Given the description of an element on the screen output the (x, y) to click on. 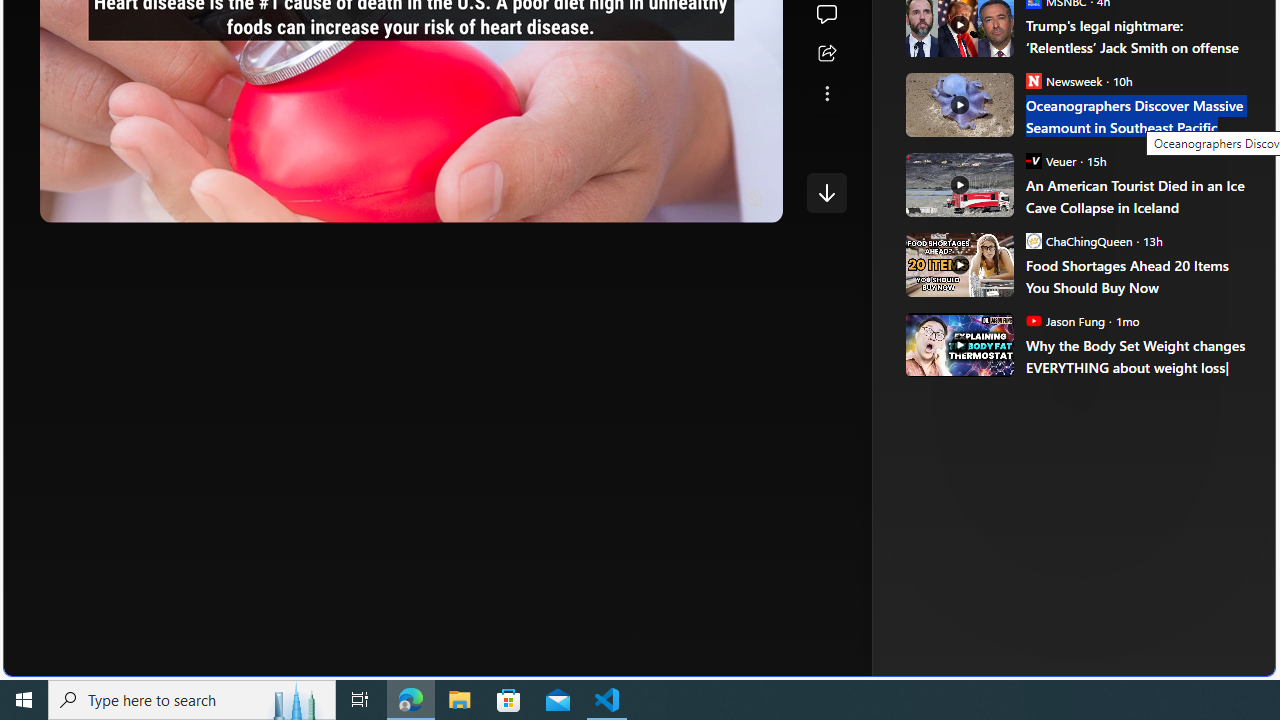
Jason Fung Jason Fung (1064, 320)
Unmute (753, 200)
ChaChingQueen (1033, 240)
An American Tourist Died in an Ice Cave Collapse in Iceland (958, 183)
Newsweek Newsweek (1064, 80)
Fullscreen (714, 200)
Veuer (1033, 160)
Seek Back (109, 200)
